Given the description of an element on the screen output the (x, y) to click on. 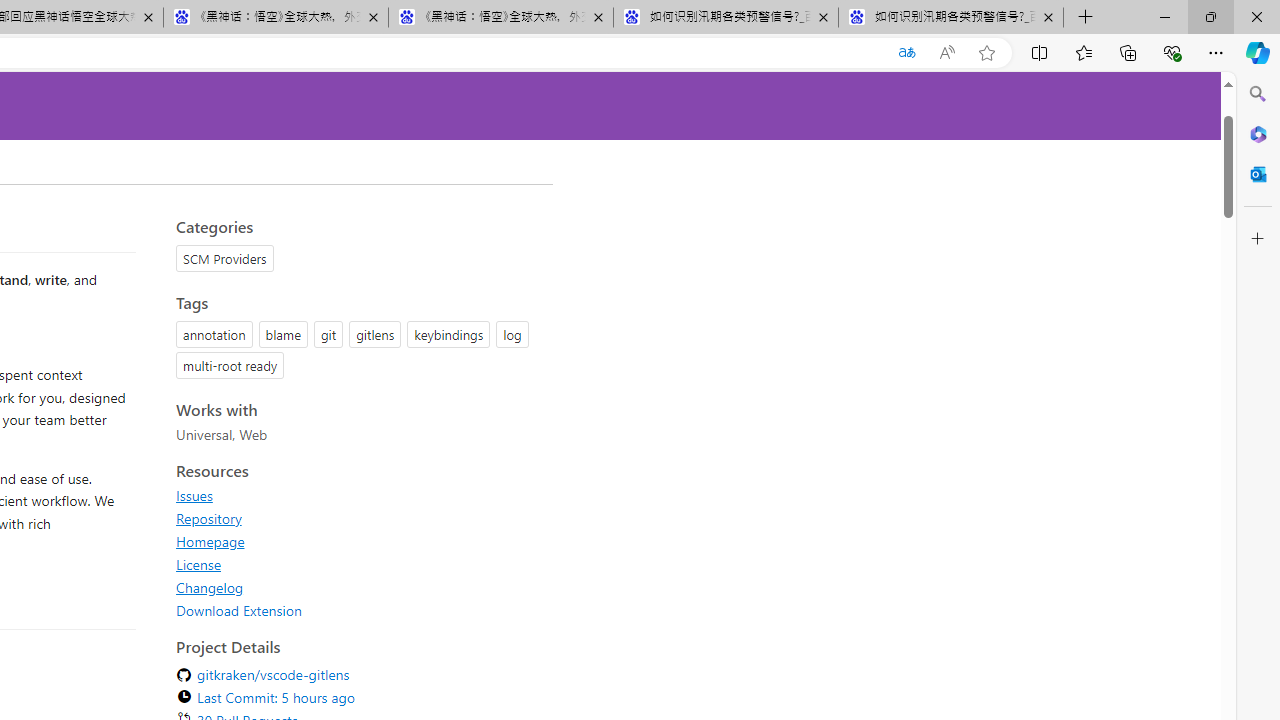
Changelog (210, 587)
License (198, 564)
Issues (194, 495)
Issues (358, 495)
